Given the description of an element on the screen output the (x, y) to click on. 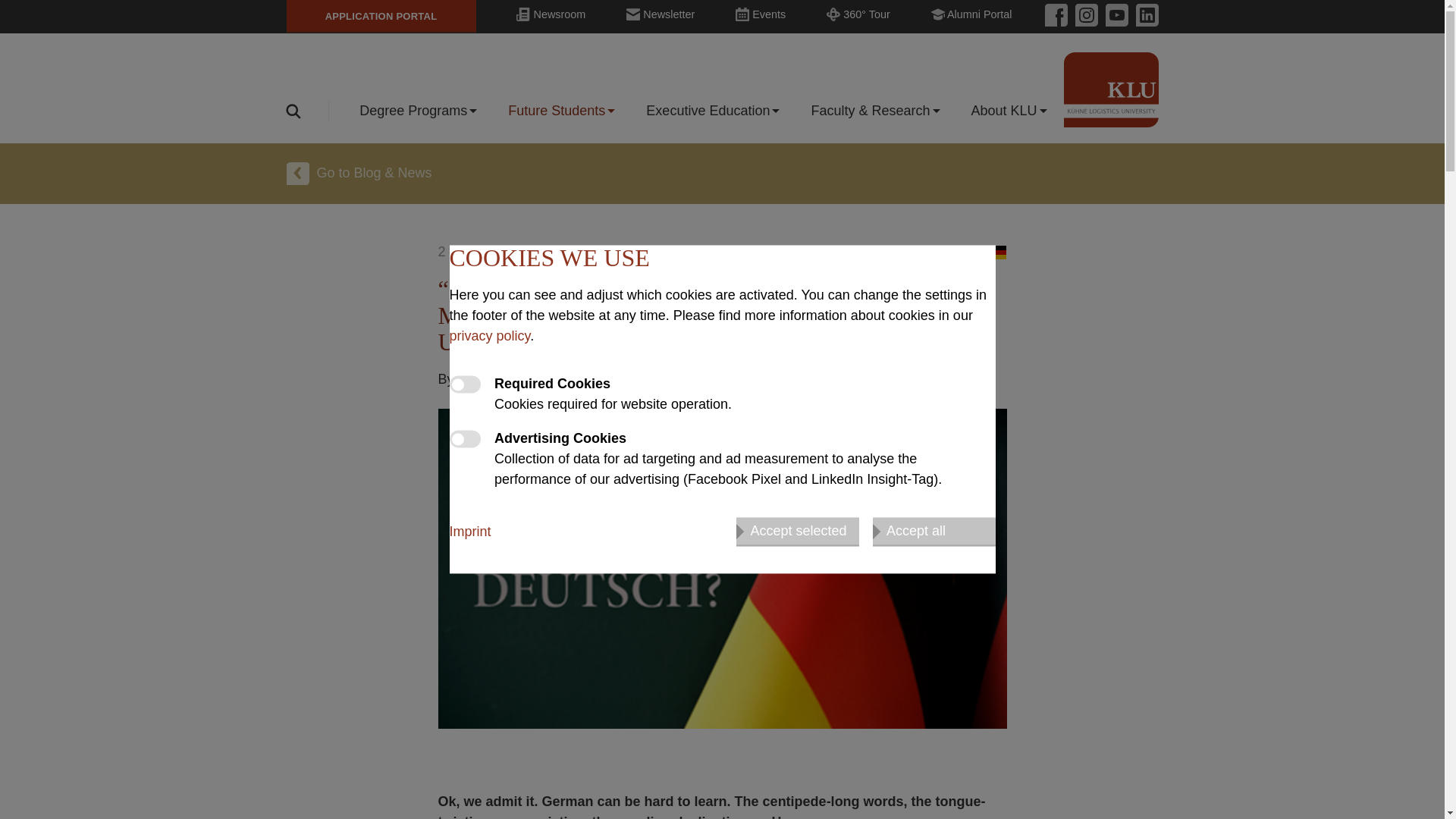
LinkedIn (1143, 15)
YouTube (1112, 15)
Instagram (1082, 15)
Switch to German version (997, 251)
Facebook (1056, 15)
